Given the description of an element on the screen output the (x, y) to click on. 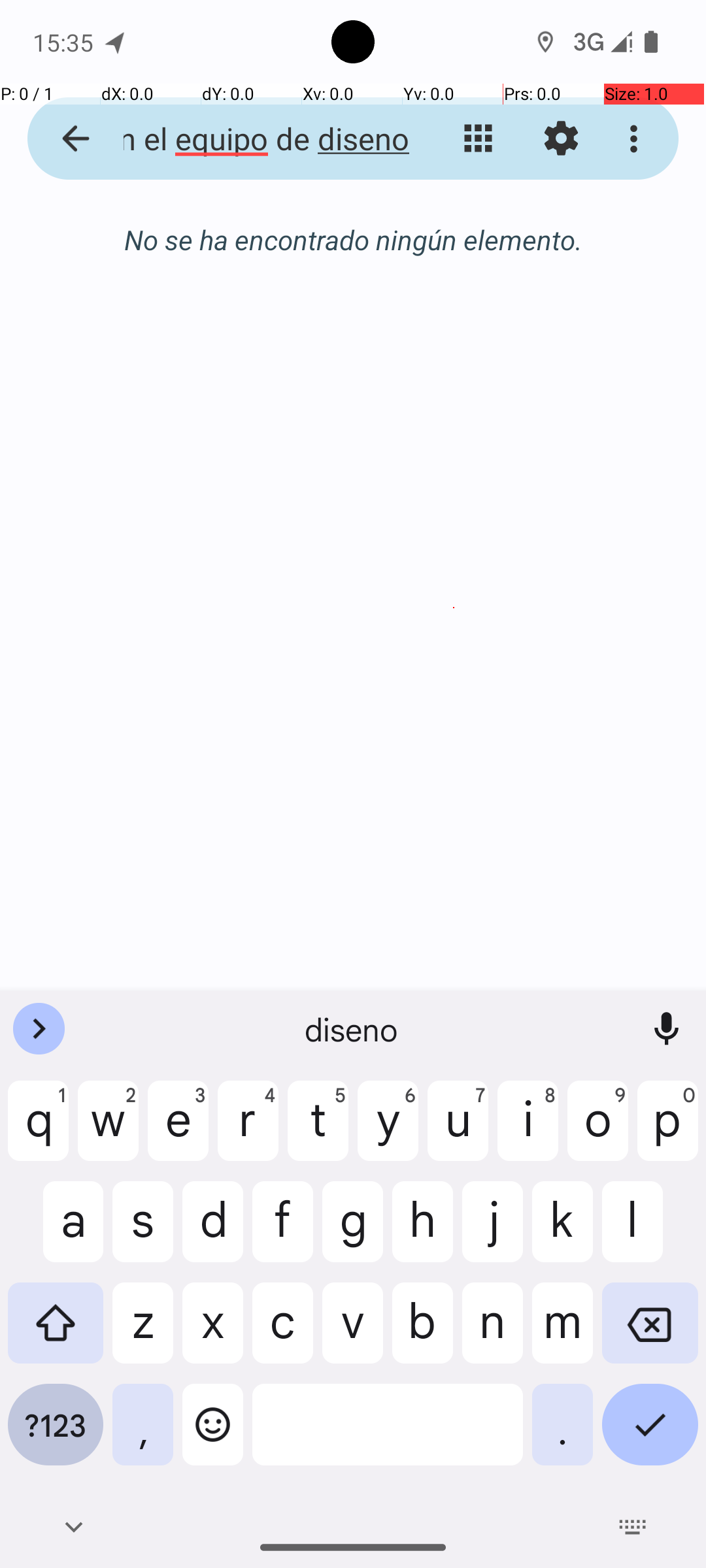
Reunion con el equipo de diseno Element type: android.widget.EditText (252, 138)
diseno Element type: android.widget.FrameLayout (352, 1028)
